Given the description of an element on the screen output the (x, y) to click on. 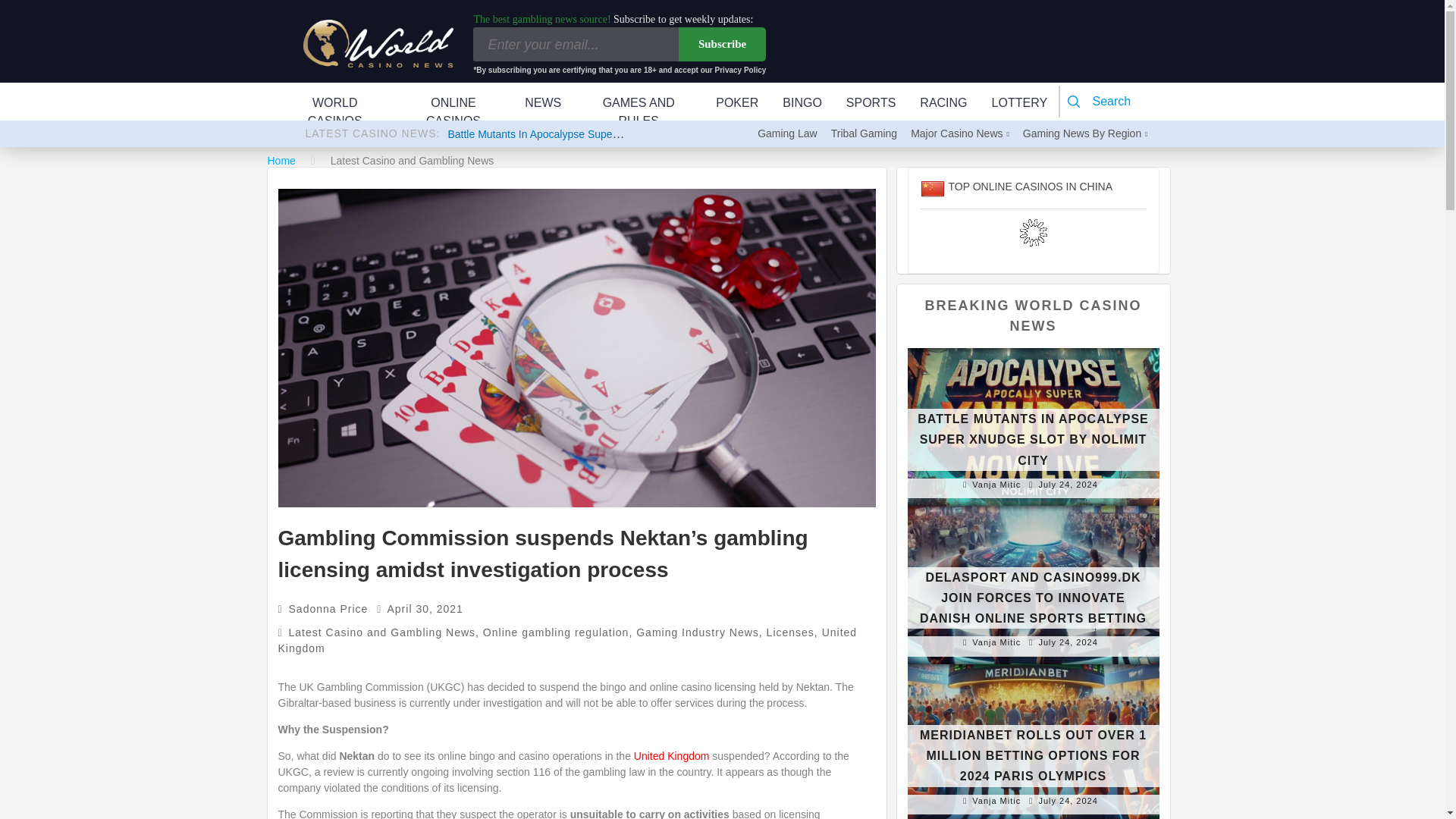
View all posts in Latest Casino and Gambling News (412, 160)
View all posts in Gaming Industry News (697, 632)
Subscribe (722, 44)
View all posts in Online gambling regulation (555, 632)
View all posts in Latest Casino and Gambling News (382, 632)
View all posts in Licenses (790, 632)
